Given the description of an element on the screen output the (x, y) to click on. 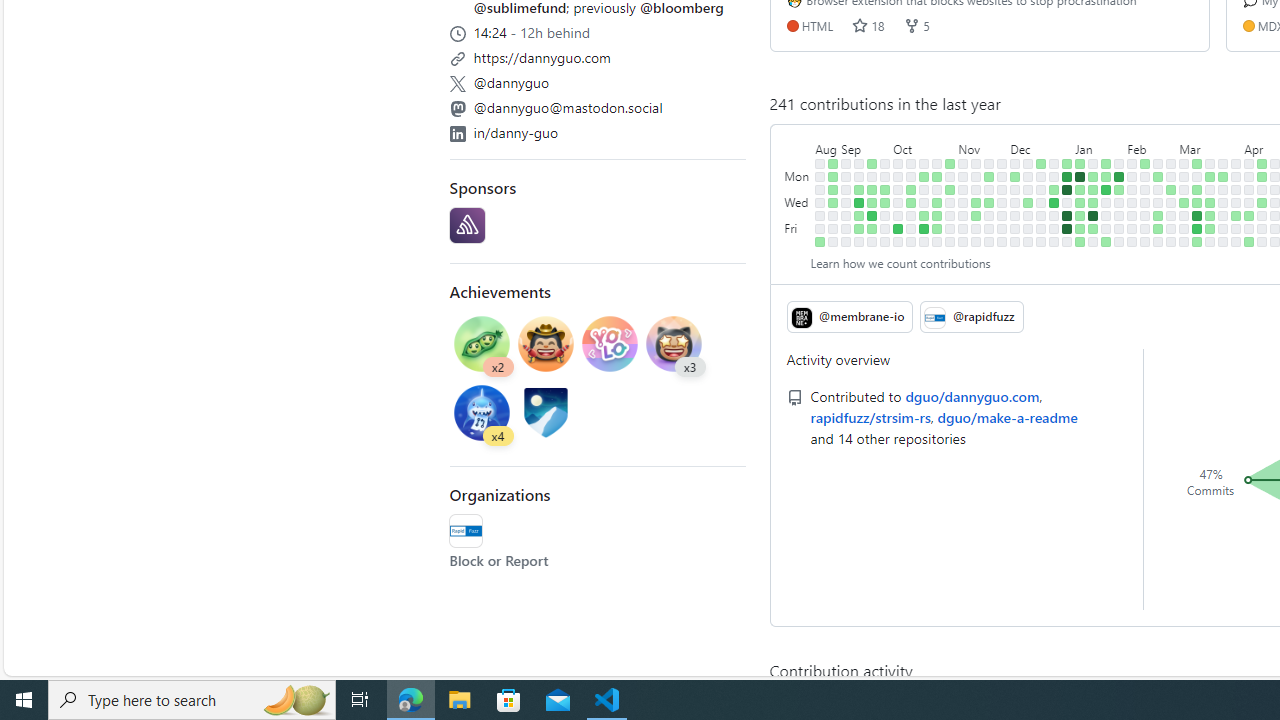
No contributions on December 7th. (1015, 215)
No contributions on September 18th. (872, 176)
Achievement: YOLO (609, 345)
No contributions on August 25th. (820, 228)
October (924, 145)
No contributions on December 22nd. (1041, 228)
No contributions on February 17th. (1145, 241)
No contributions on September 29th. (885, 228)
1 contribution on August 29th. (833, 189)
September (865, 145)
No contributions on November 23rd. (989, 215)
No contributions on December 1st. (1002, 228)
Learn how we count contributions (900, 262)
No contributions on September 11th. (859, 176)
1 contribution on March 25th. (1223, 176)
